Given the description of an element on the screen output the (x, y) to click on. 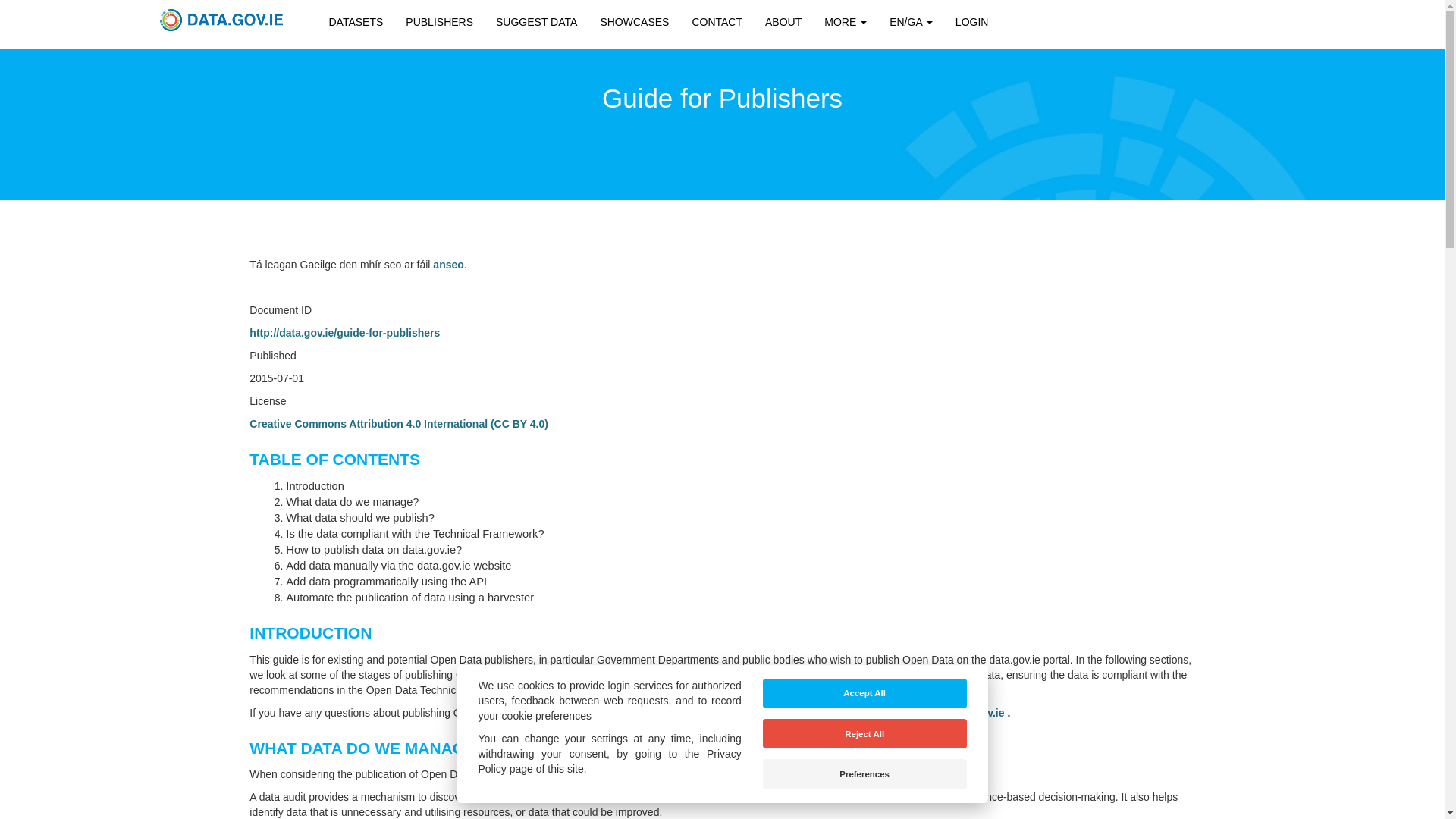
SHOWCASES (633, 21)
DATASETS (355, 21)
MORE (844, 21)
LOGIN (971, 21)
Data.Gov.IE (220, 19)
anseo (447, 264)
CONTACT (716, 21)
PUBLISHERS (439, 21)
ABOUT (783, 21)
SUGGEST DATA (536, 21)
